Given the description of an element on the screen output the (x, y) to click on. 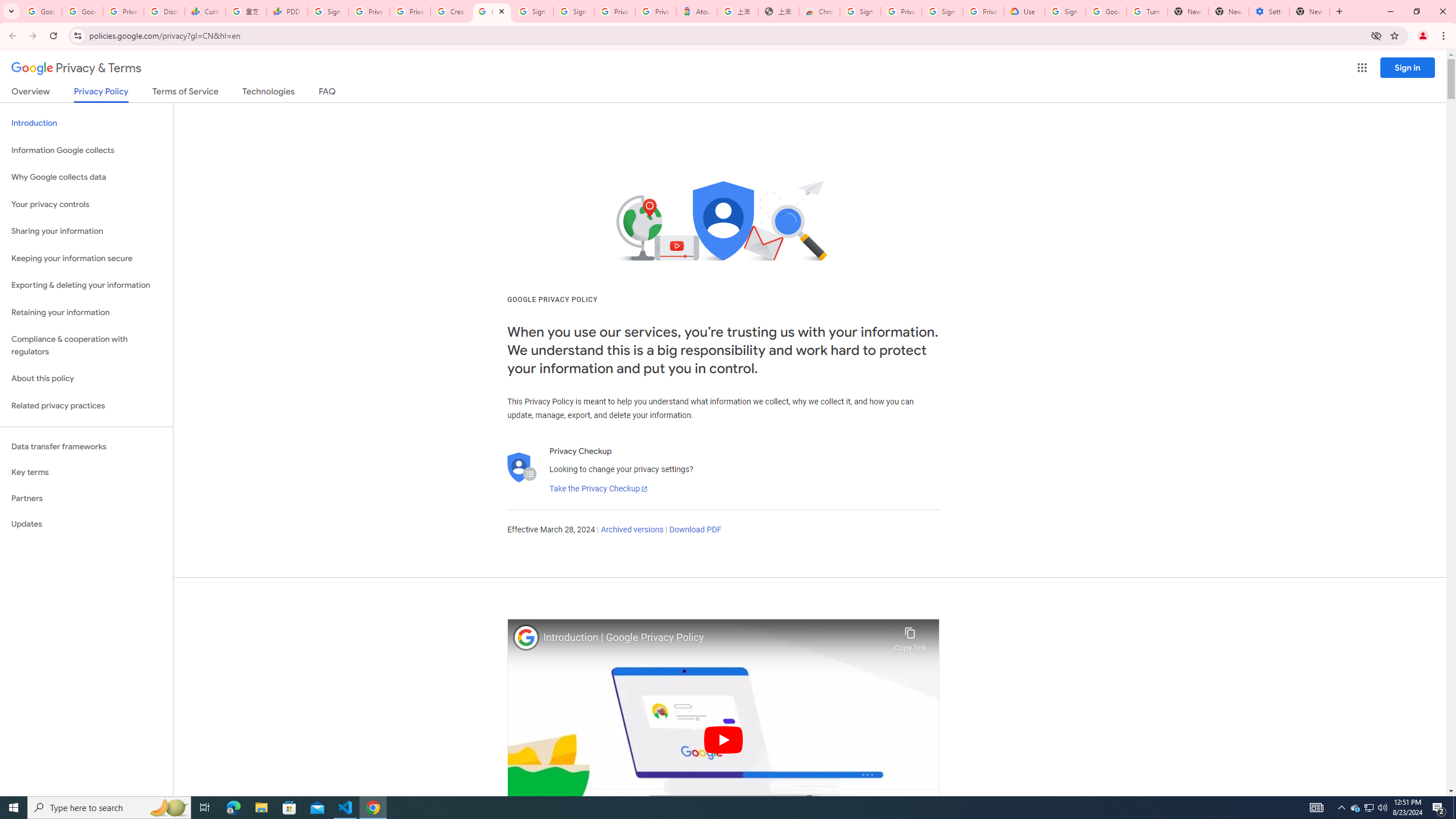
Currencies - Google Finance (205, 11)
Photo image of Google (526, 636)
Google Account Help (1105, 11)
New Tab (1309, 11)
Turn cookies on or off - Computer - Google Account Help (1146, 11)
Sign in - Google Accounts (573, 11)
